Given the description of an element on the screen output the (x, y) to click on. 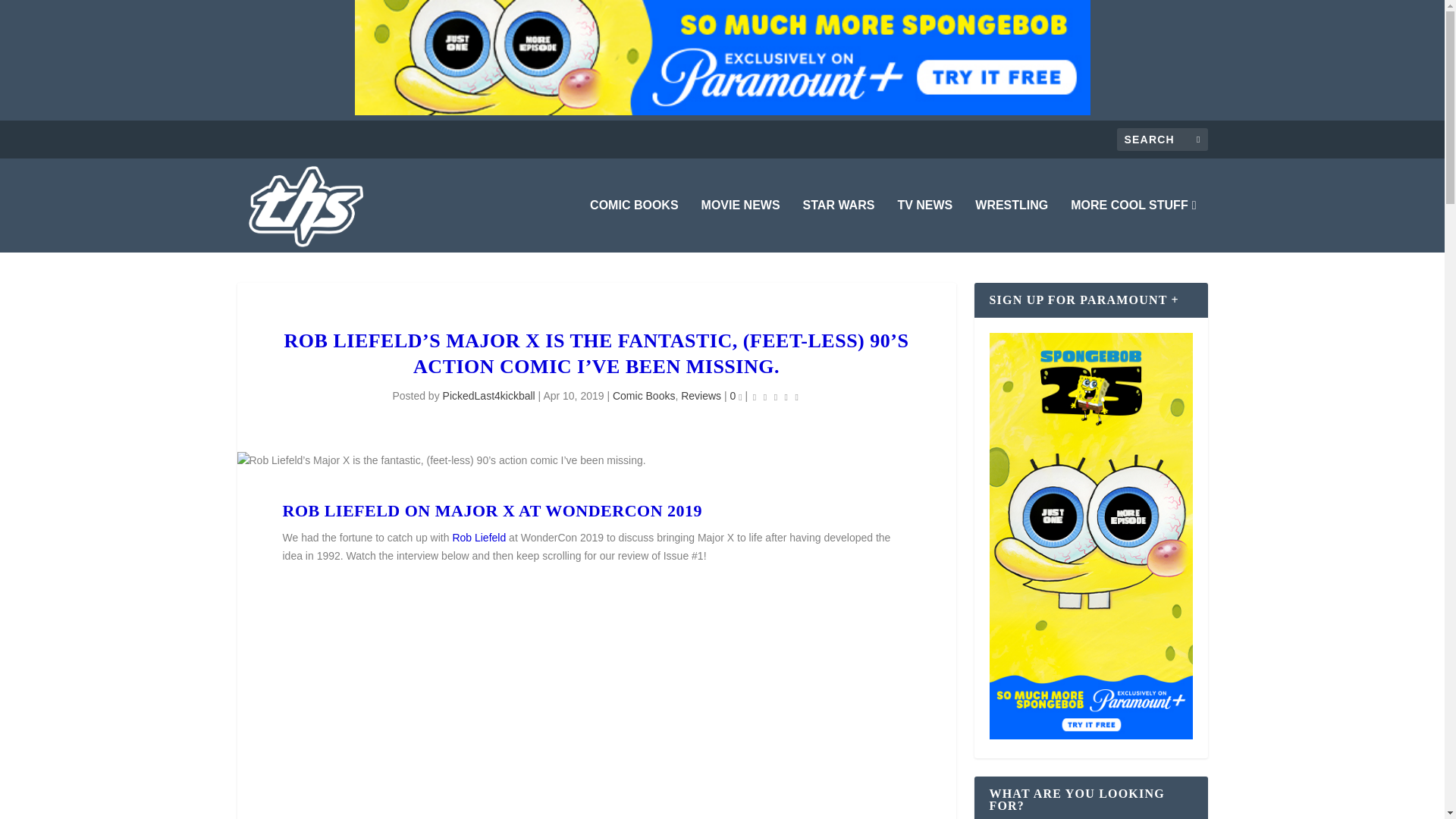
COMIC BOOKS (633, 225)
Comic Books (643, 395)
Rob Liefeld (478, 537)
0 (736, 395)
STAR WARS (839, 225)
Reviews (700, 395)
Search for: (1161, 138)
TV NEWS (924, 225)
Rating: 0.00 (775, 396)
MOVIE NEWS (740, 225)
MORE COOL STUFF (1132, 225)
Posts by PickedLast4kickball (488, 395)
WRESTLING (1011, 225)
PickedLast4kickball (488, 395)
